Given the description of an element on the screen output the (x, y) to click on. 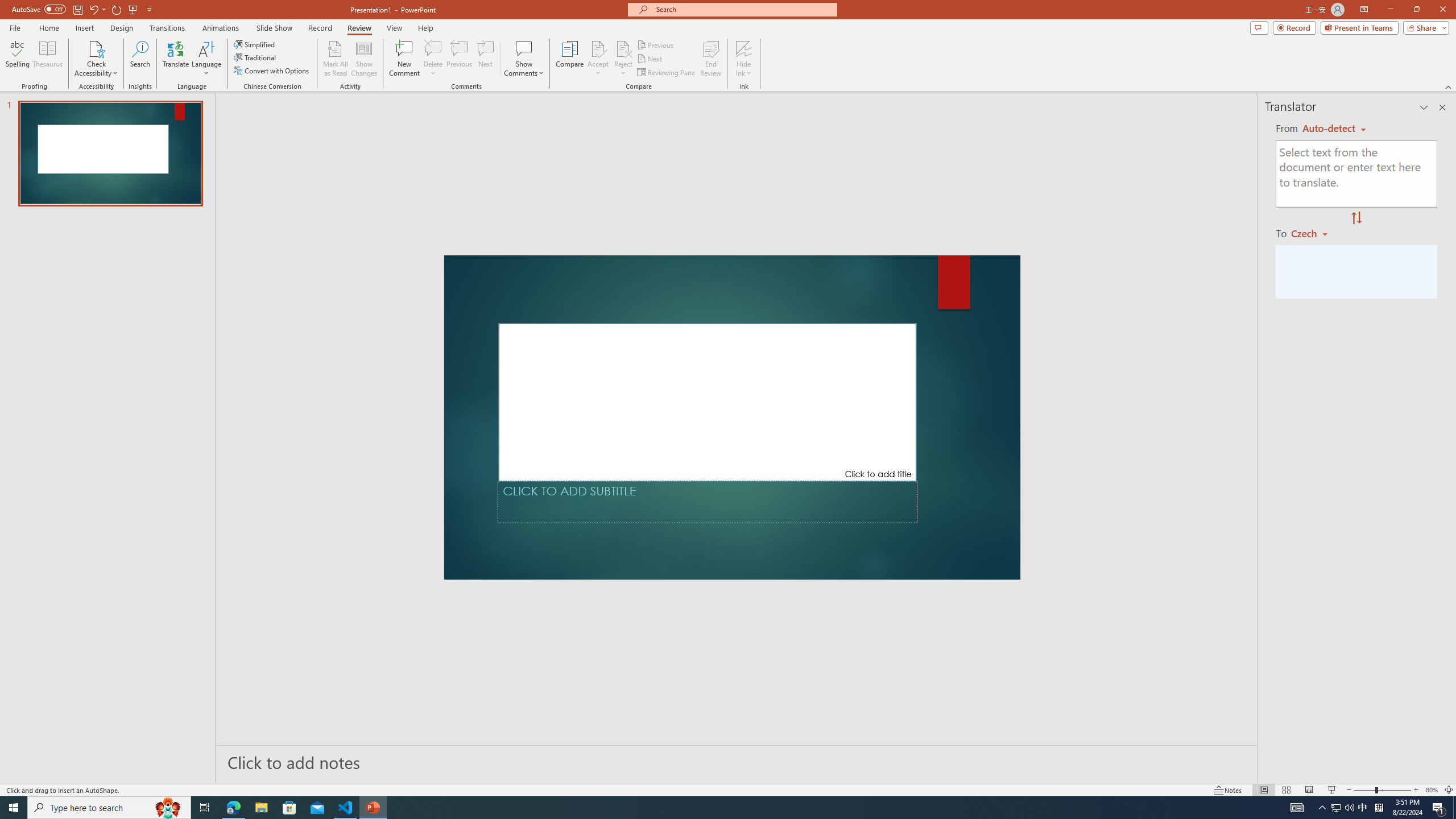
Reviewing Pane (666, 72)
Previous (655, 44)
Subtitle TextBox (707, 501)
New Comment (403, 58)
